Given the description of an element on the screen output the (x, y) to click on. 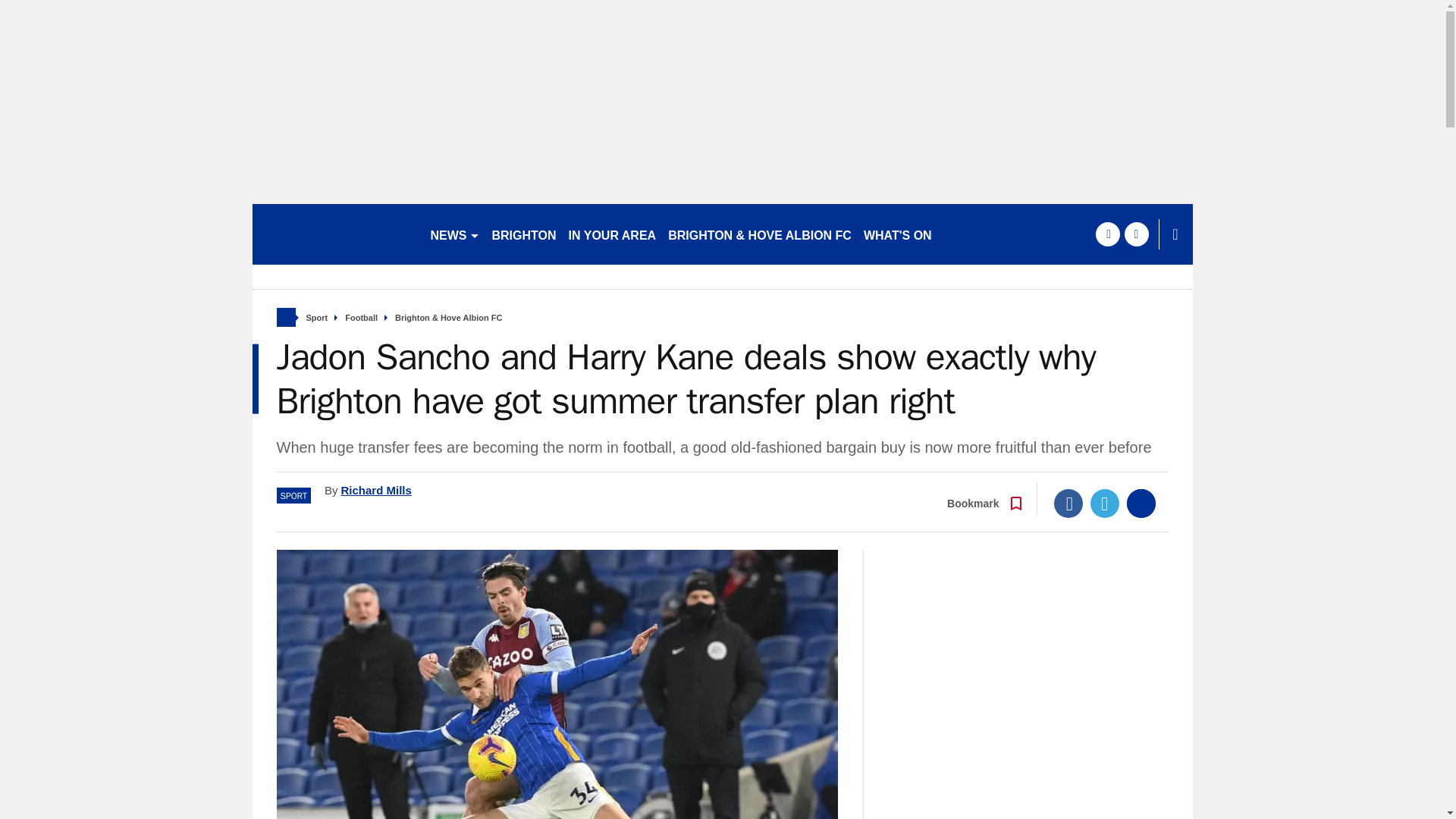
NEWS (455, 233)
sussexlive (333, 233)
IN YOUR AREA (612, 233)
BRIGHTON (523, 233)
Twitter (1104, 502)
WHAT'S ON (897, 233)
Facebook (1068, 502)
twitter (1136, 233)
facebook (1106, 233)
